Given the description of an element on the screen output the (x, y) to click on. 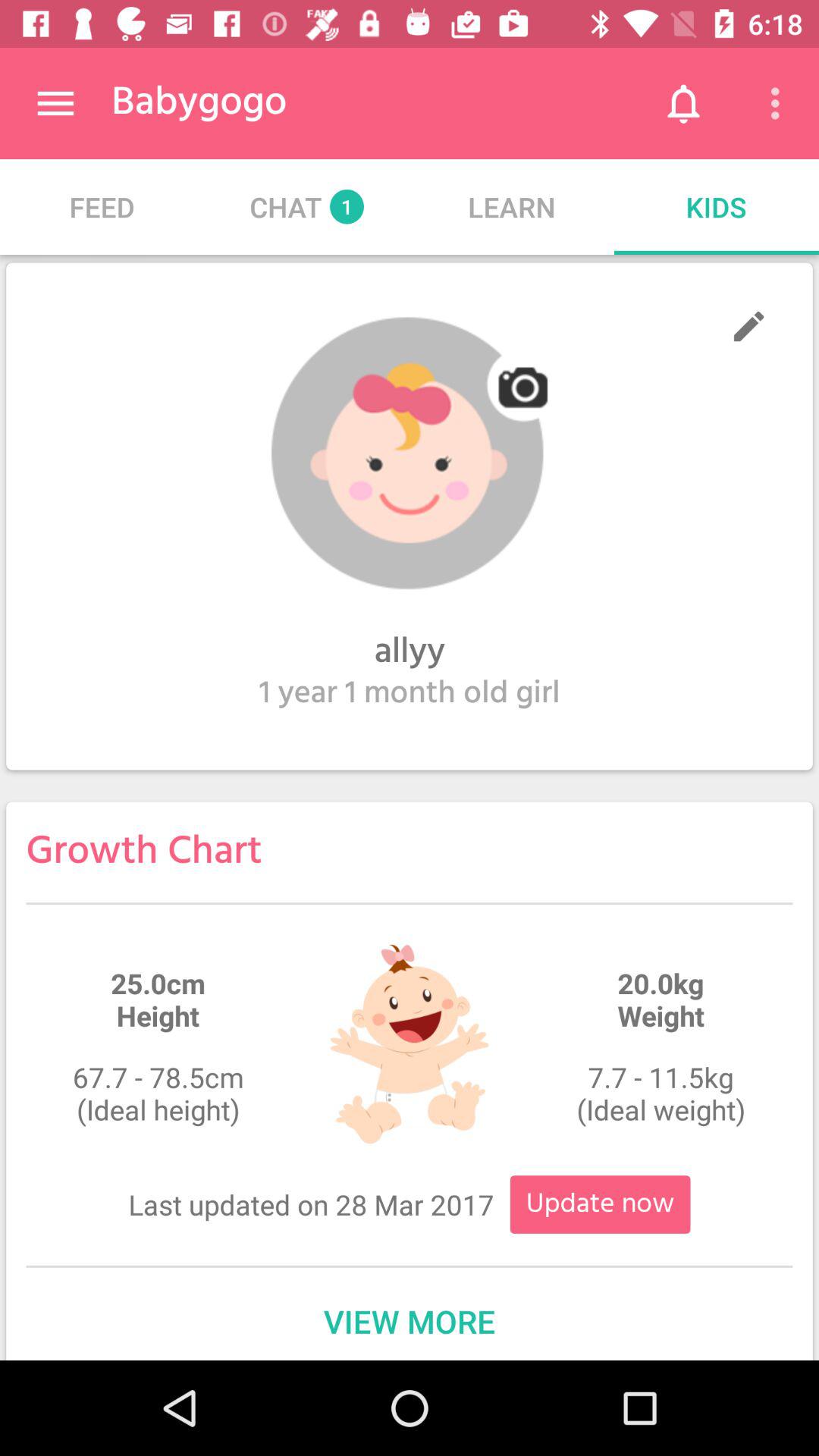
edit picture (409, 453)
